Given the description of an element on the screen output the (x, y) to click on. 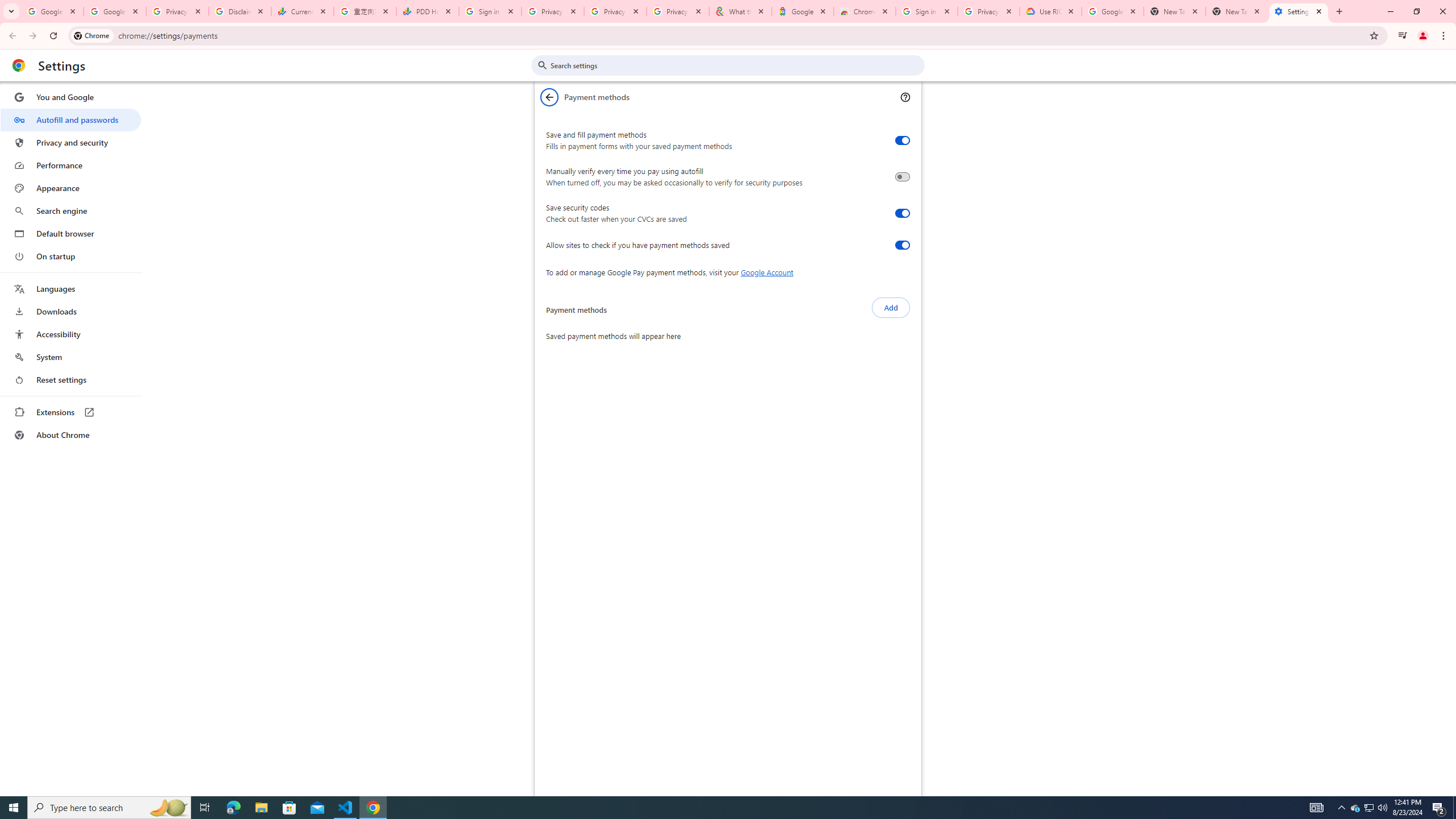
PDD Holdings Inc - ADR (PDD) Price & News - Google Finance (427, 11)
Accessibility (70, 333)
Default browser (70, 233)
Autofill and passwords (70, 119)
Sign in - Google Accounts (490, 11)
Privacy Checkup (615, 11)
Extensions (70, 412)
On startup (70, 255)
Settings - Payment methods (1298, 11)
Sign in - Google Accounts (926, 11)
